Given the description of an element on the screen output the (x, y) to click on. 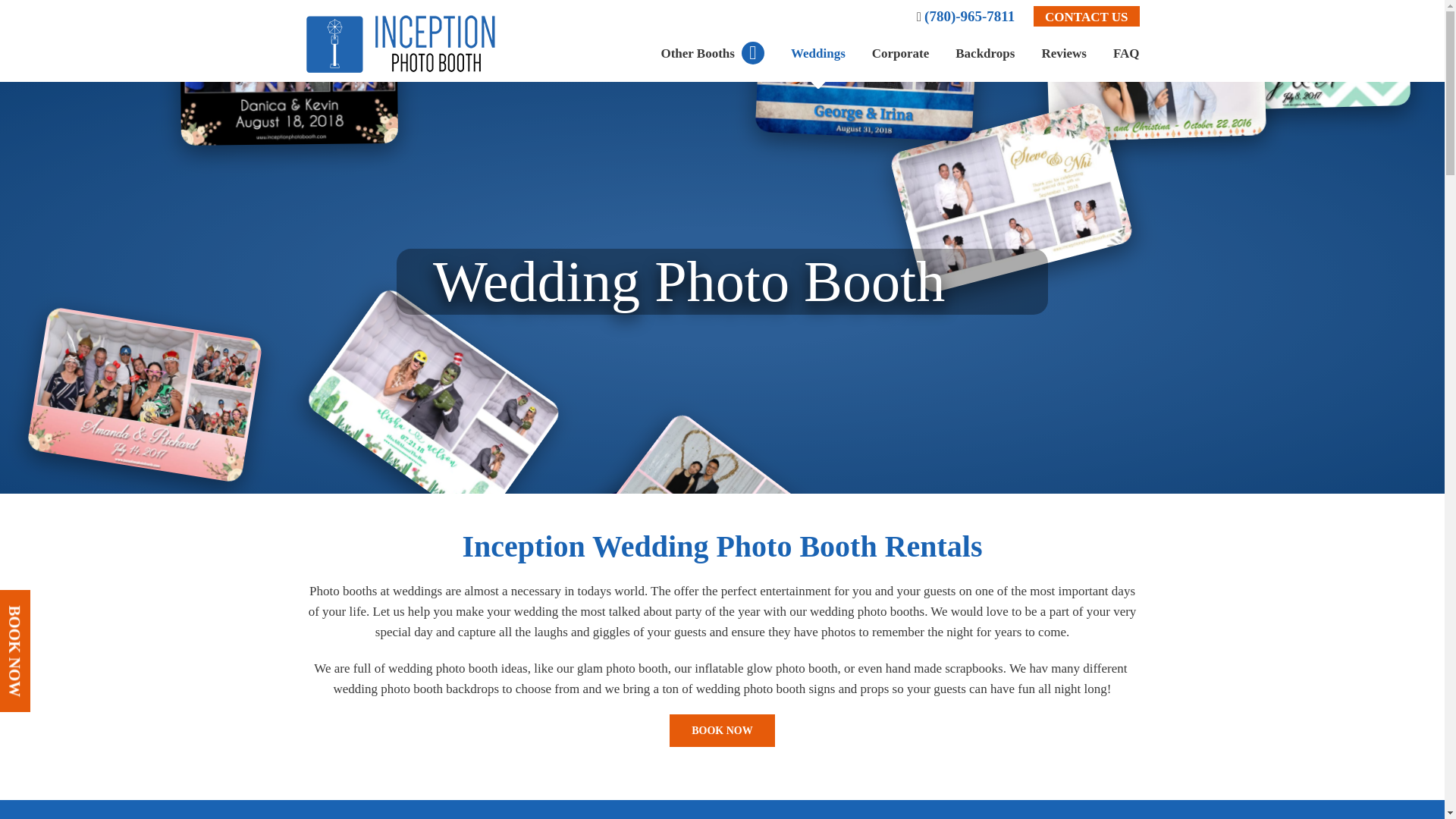
Reviews (1063, 52)
Corporate (901, 52)
Other Booths (711, 52)
BOOK NOW (721, 730)
Backdrops (984, 52)
Weddings (817, 52)
FAQ (1126, 52)
CONTACT US (1085, 15)
